Given the description of an element on the screen output the (x, y) to click on. 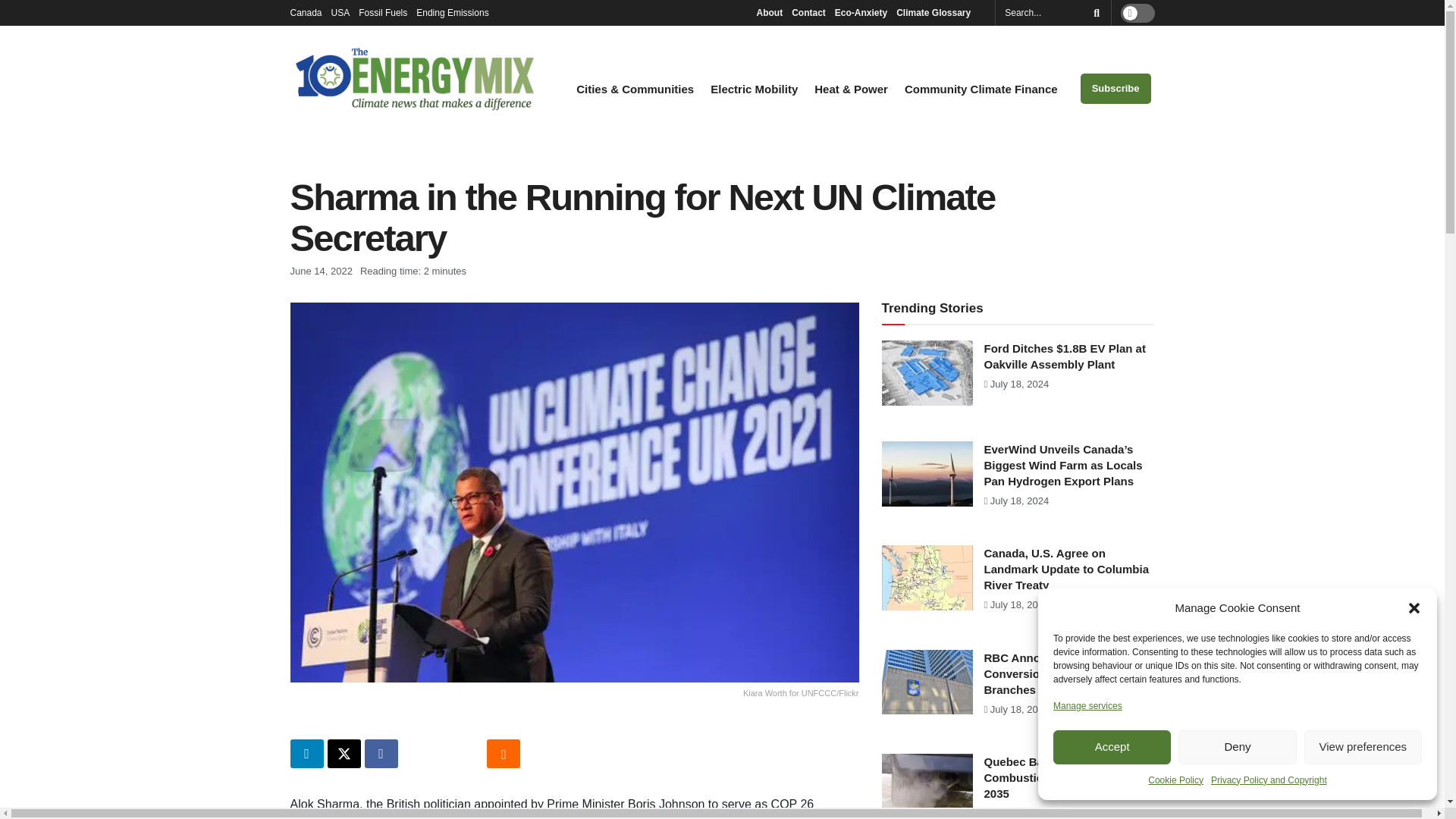
Canada (305, 12)
Cookie Policy (1176, 780)
Ending Emissions (456, 12)
About (769, 12)
Deny (1236, 747)
Subscribe (1115, 88)
Fossil Fuels (382, 12)
View preferences (1363, 747)
Electric Mobility (753, 89)
Privacy Policy and Copyright (1268, 780)
Community Climate Finance (981, 89)
Climate Glossary (937, 12)
Contact (808, 12)
Eco-Anxiety (860, 12)
Accept (1111, 747)
